Given the description of an element on the screen output the (x, y) to click on. 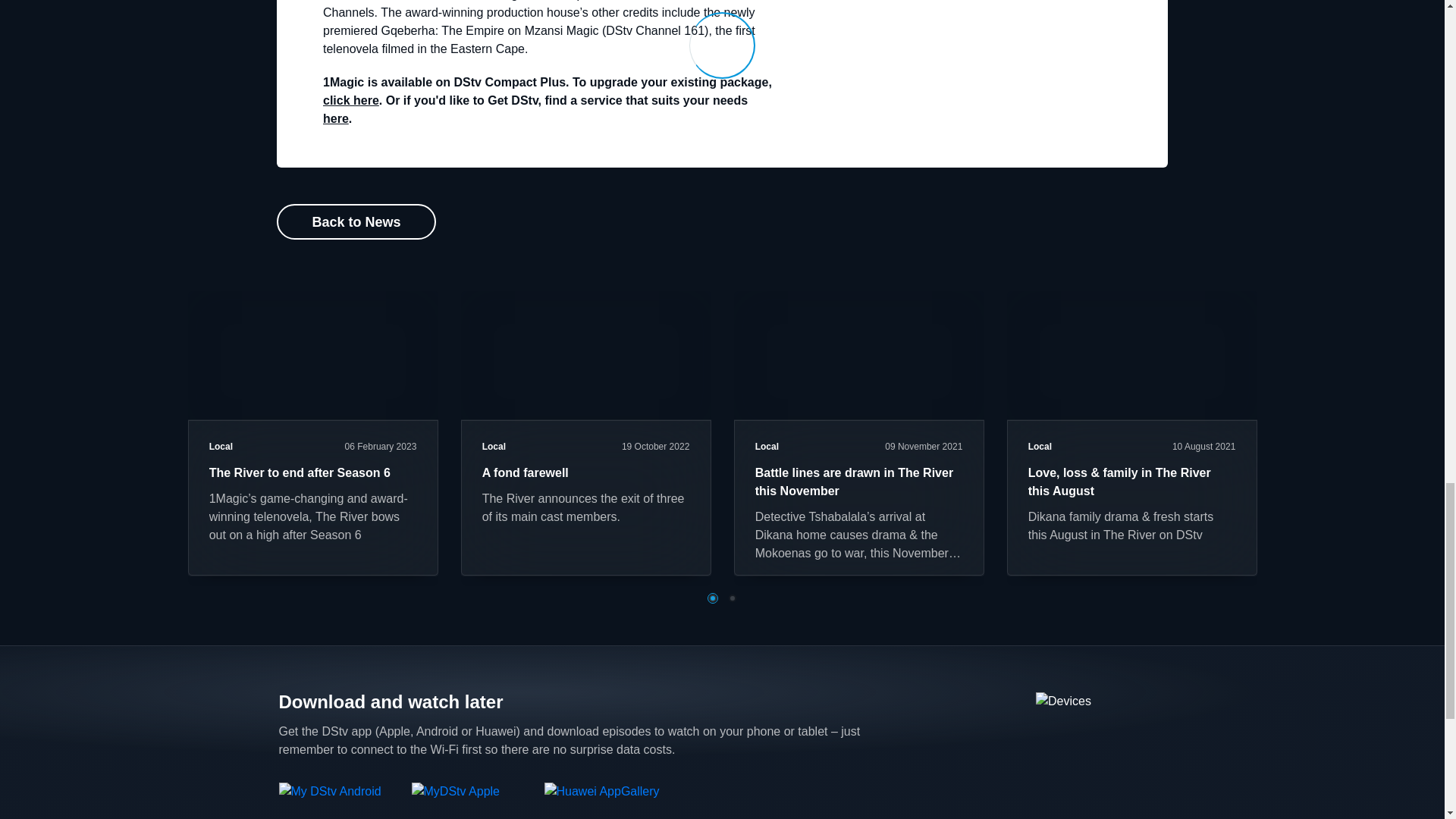
here (336, 118)
Back to News (355, 221)
click here (350, 100)
